Given the description of an element on the screen output the (x, y) to click on. 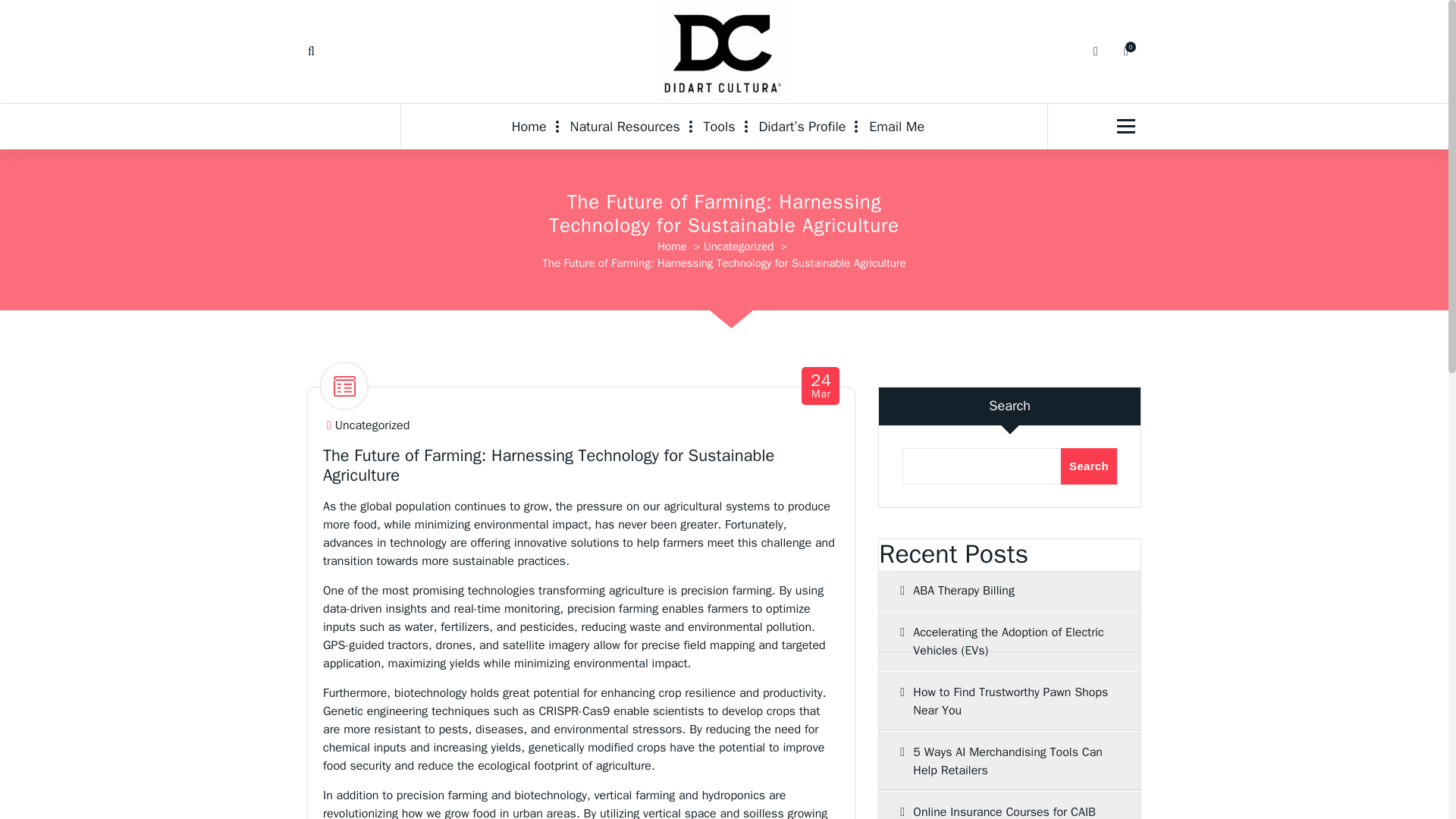
0 (1125, 51)
Home (535, 126)
Natural Resources (625, 126)
Natural Resources (625, 126)
ABA Therapy Billing (1009, 590)
Email Me (896, 126)
Home (820, 386)
How to Find Trustworthy Pawn Shops Near You (535, 126)
Tools (1009, 701)
